Given the description of an element on the screen output the (x, y) to click on. 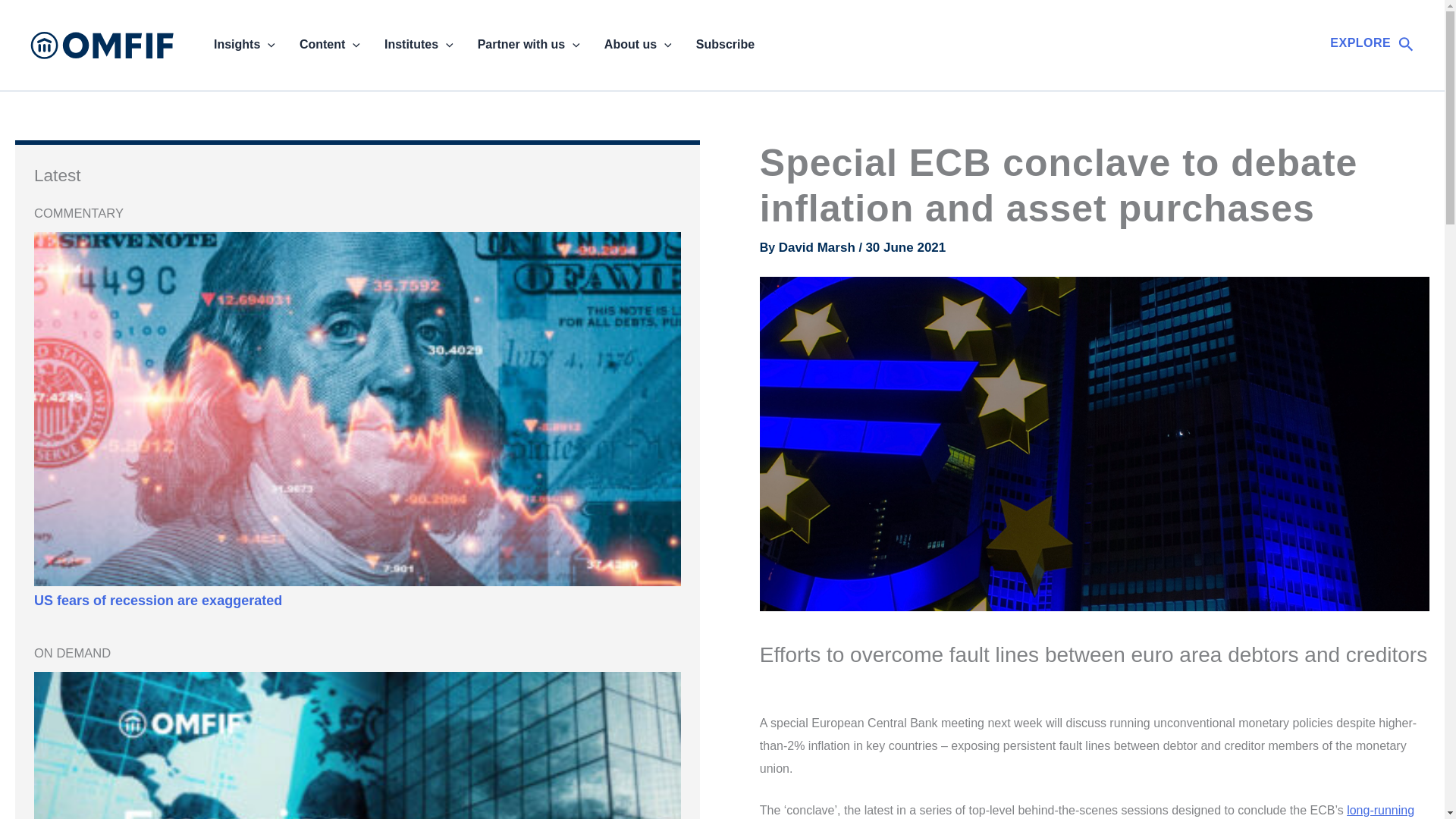
Content (329, 44)
View all posts by David Marsh (818, 247)
About us (638, 44)
Institutes (418, 44)
Partner with us (528, 44)
Insights (244, 44)
